Given the description of an element on the screen output the (x, y) to click on. 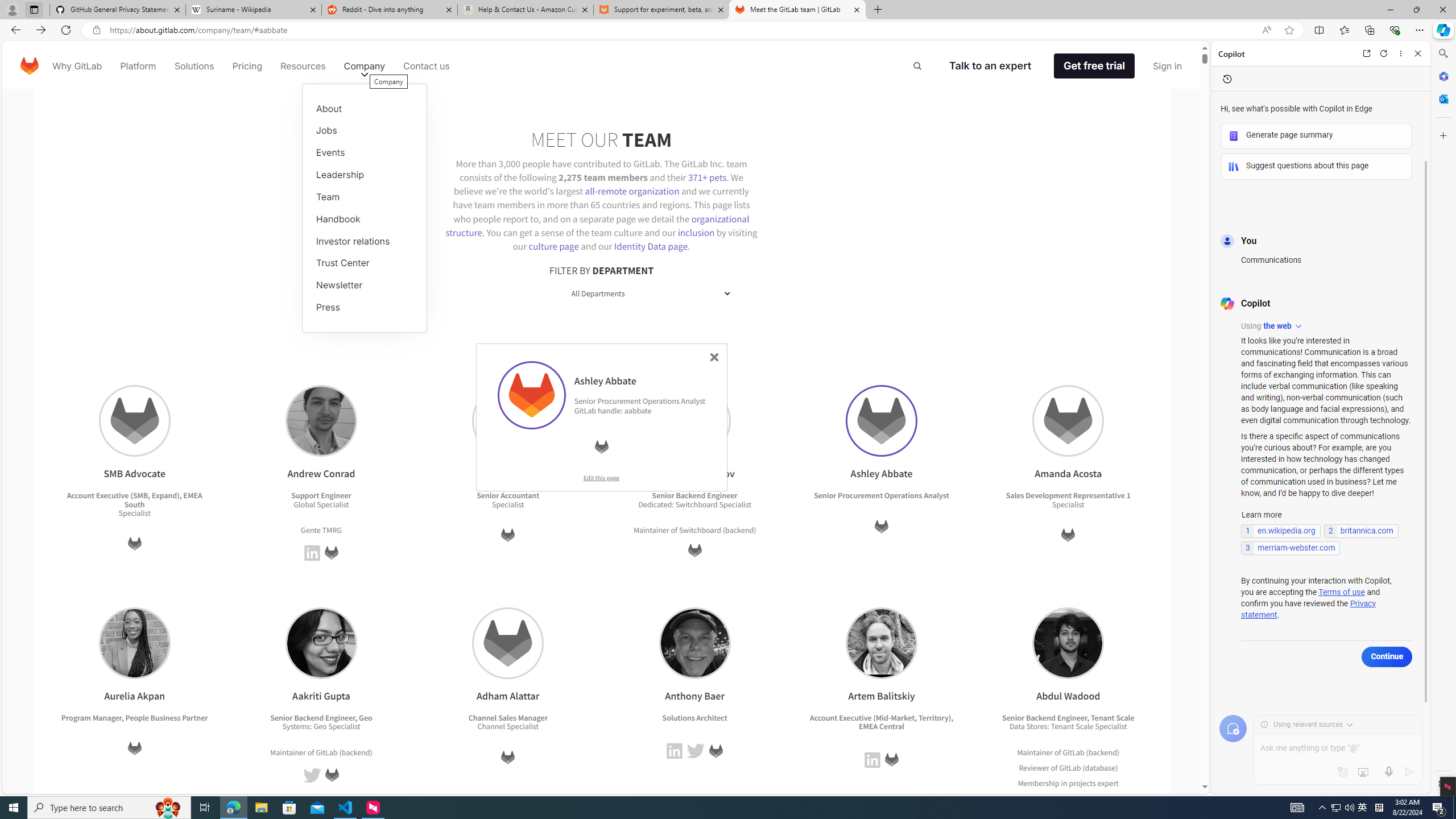
Maintainer of Switchboard (backend) (695, 529)
Resources (302, 65)
all-remote organization (632, 191)
Program Manager, People Business Partner (134, 717)
Adham Alattar (507, 642)
Senior Backend Engineer (1044, 717)
organizational structure (597, 225)
Aakriti Gupta (320, 642)
Andrey Ruzmanov (695, 420)
Anthony Baer (694, 642)
